Given the description of an element on the screen output the (x, y) to click on. 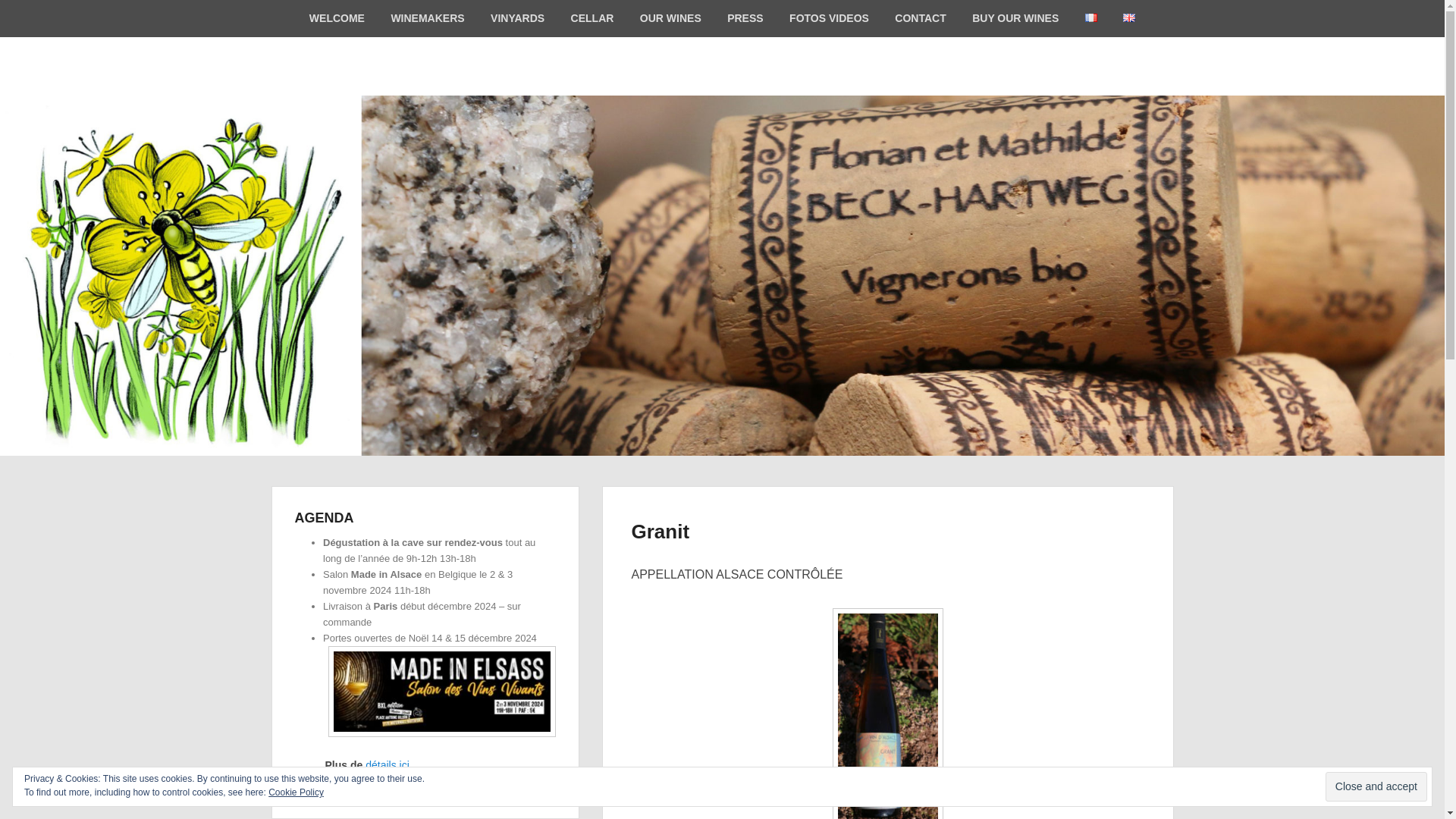
Close and accept (1375, 786)
FOTOS VIDEOS (828, 18)
Permalink to Granit (659, 531)
CONTACT (919, 18)
WINEMAKERS (427, 18)
BUY OUR WINES (1015, 18)
OUR WINES (670, 18)
WELCOME (336, 18)
PRESS (745, 18)
CELLAR (592, 18)
